Given the description of an element on the screen output the (x, y) to click on. 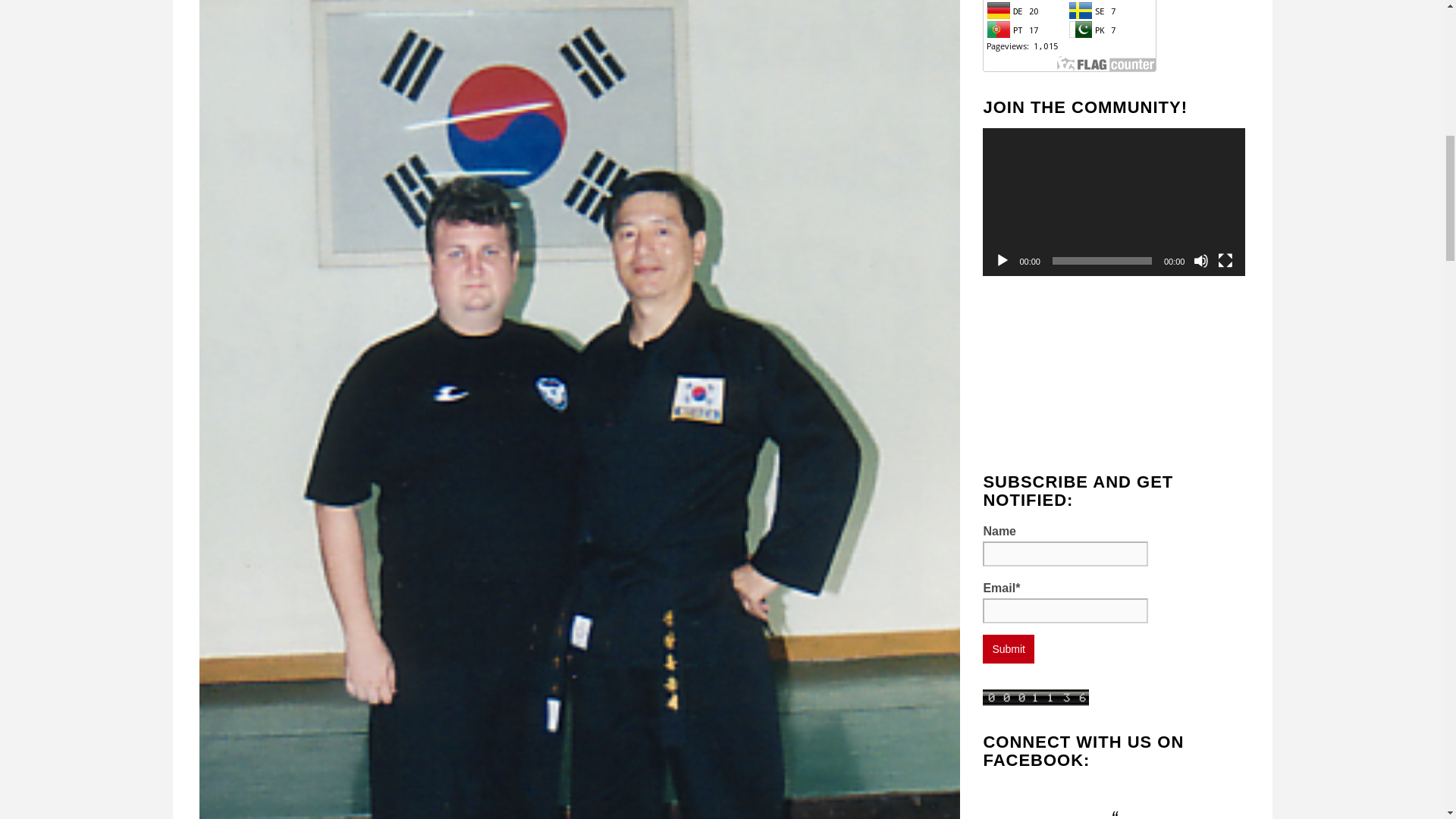
web counter html (1035, 696)
Mute (1200, 260)
Play (1002, 260)
Submit (1007, 648)
Martial Arts Podcast (1113, 372)
web counter html (1035, 696)
Fullscreen (1225, 260)
